Given the description of an element on the screen output the (x, y) to click on. 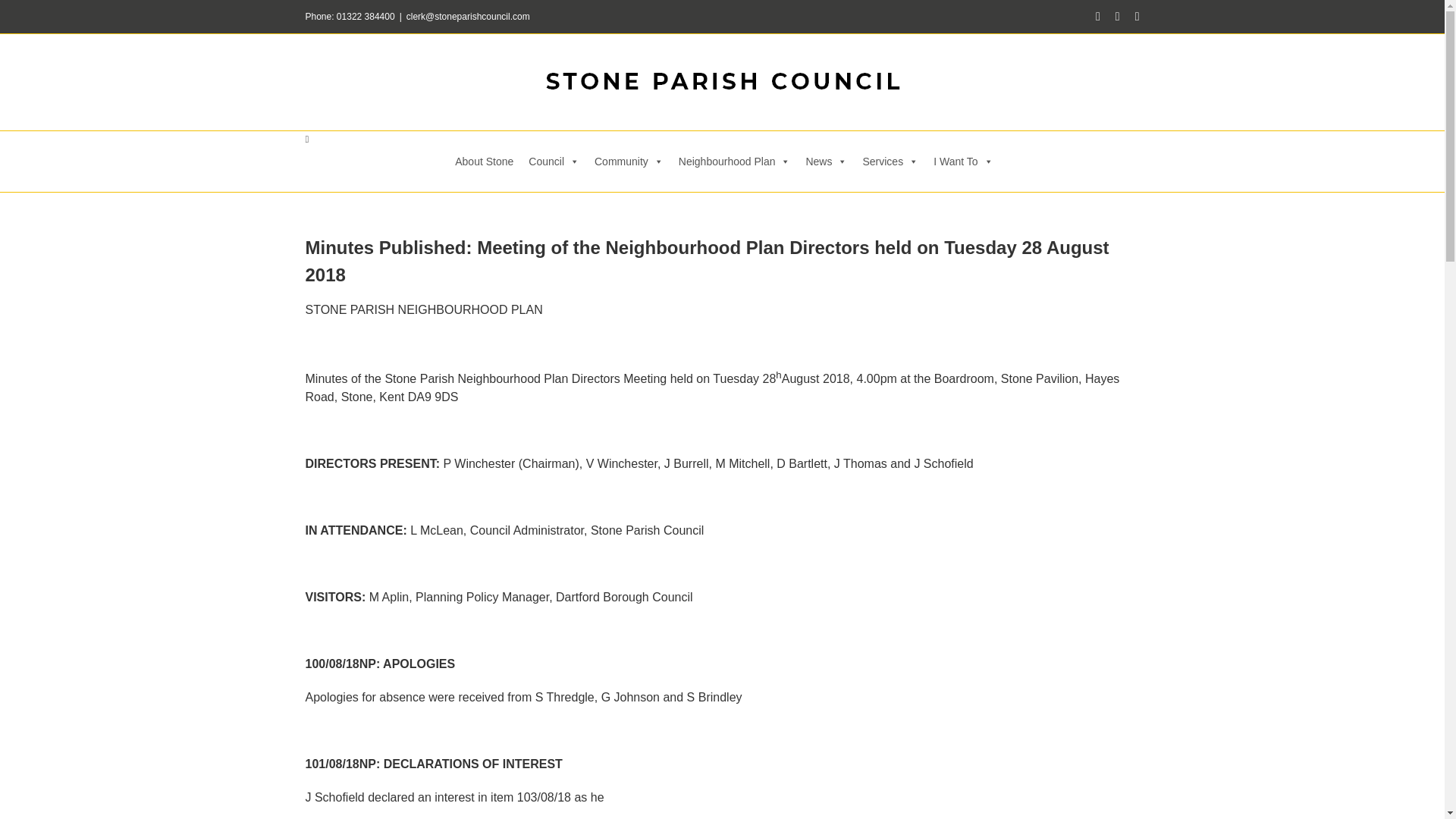
A drop-down list of links to (628, 161)
About Stone (483, 161)
Neighbourhood Plan (734, 161)
Community (628, 161)
News (825, 161)
Council (553, 161)
Services (890, 161)
